Given the description of an element on the screen output the (x, y) to click on. 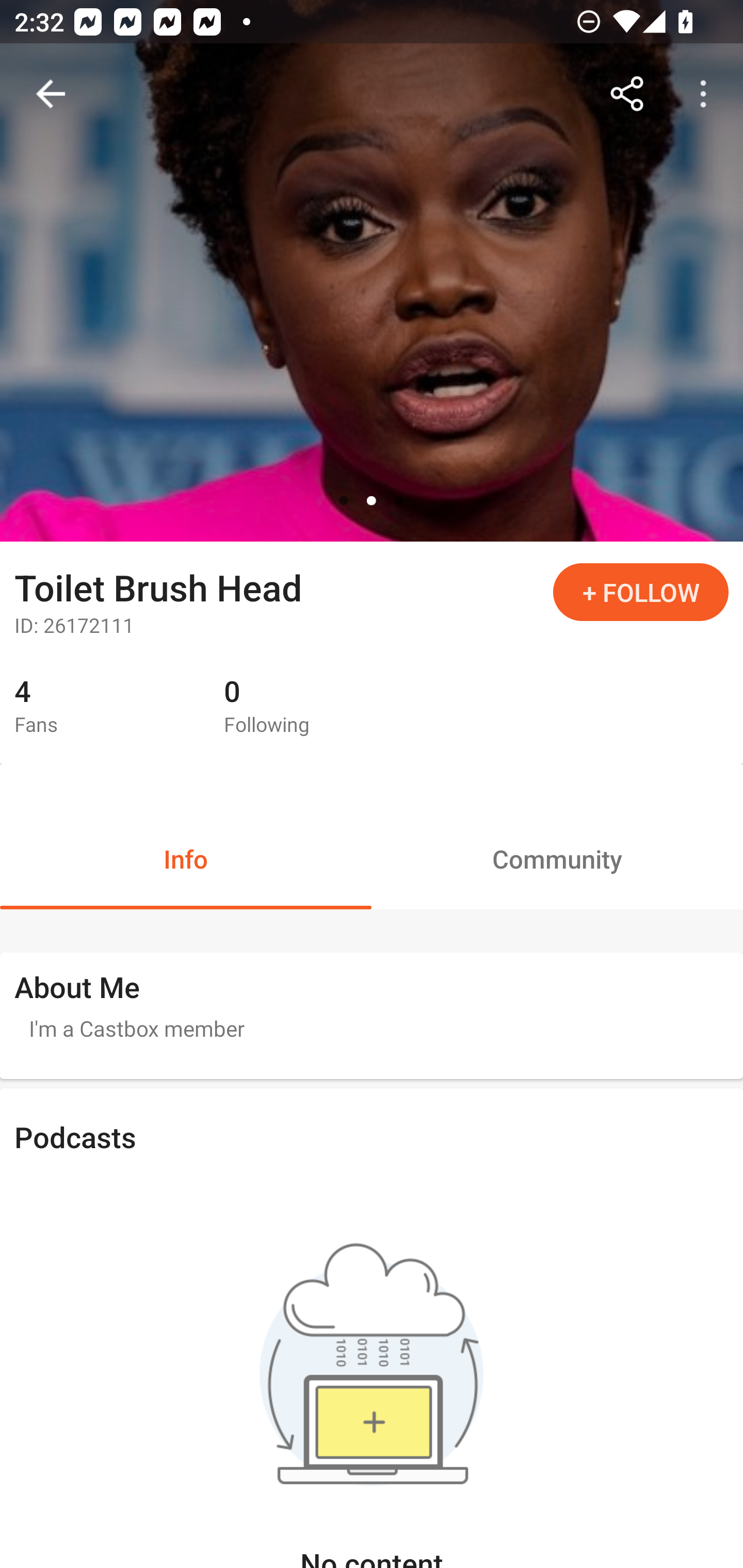
Navigate up (50, 93)
Share (626, 93)
More options (706, 93)
+ FOLLOW (640, 591)
4 Fans (104, 707)
0 Following (313, 707)
Info (185, 858)
Community (557, 858)
